Given the description of an element on the screen output the (x, y) to click on. 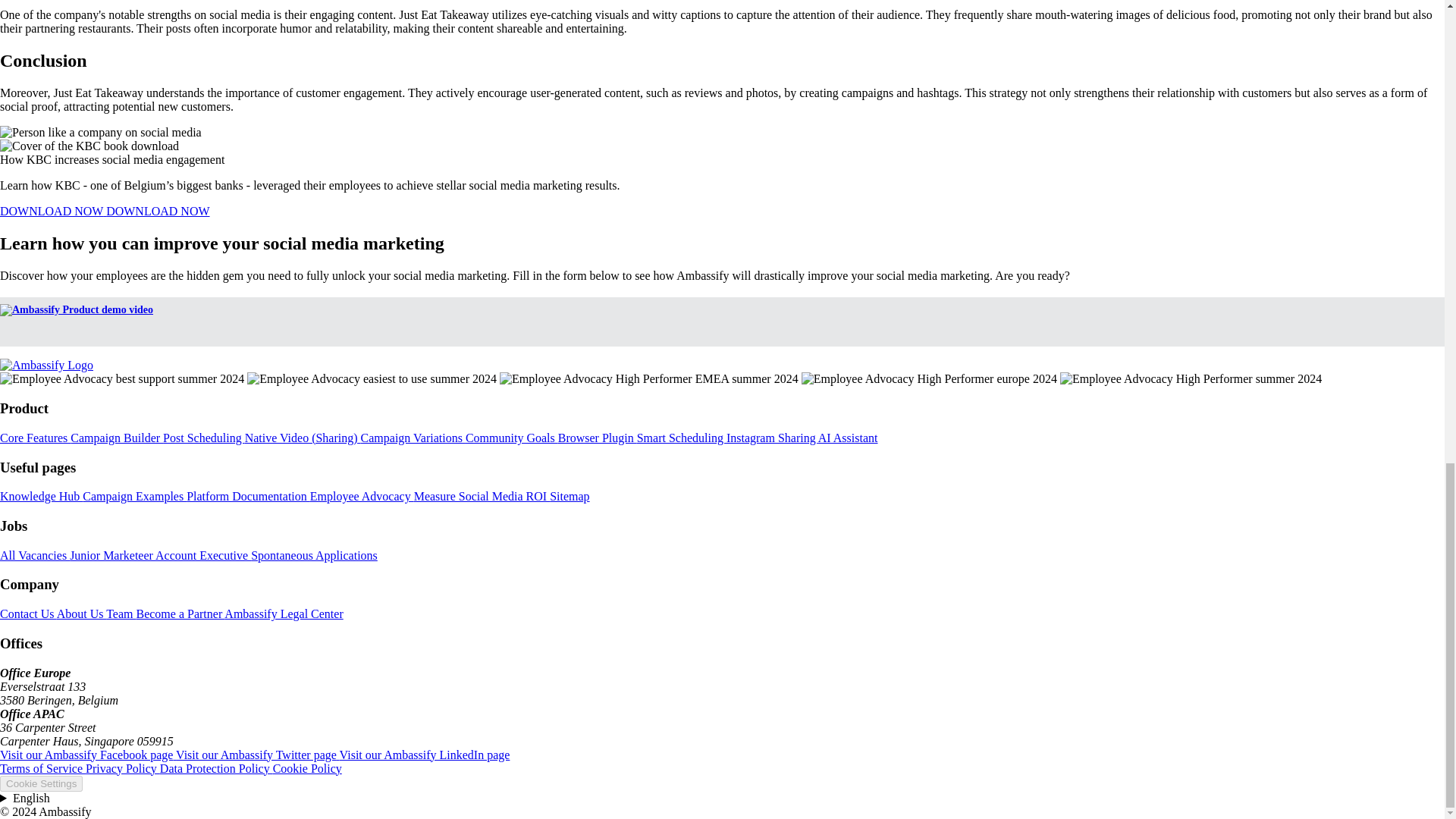
Visit our Ambassify LinkedIn page (425, 754)
Visit our Ambassify Facebook page (88, 754)
Visit our Ambassify Twitter page (257, 754)
